Given the description of an element on the screen output the (x, y) to click on. 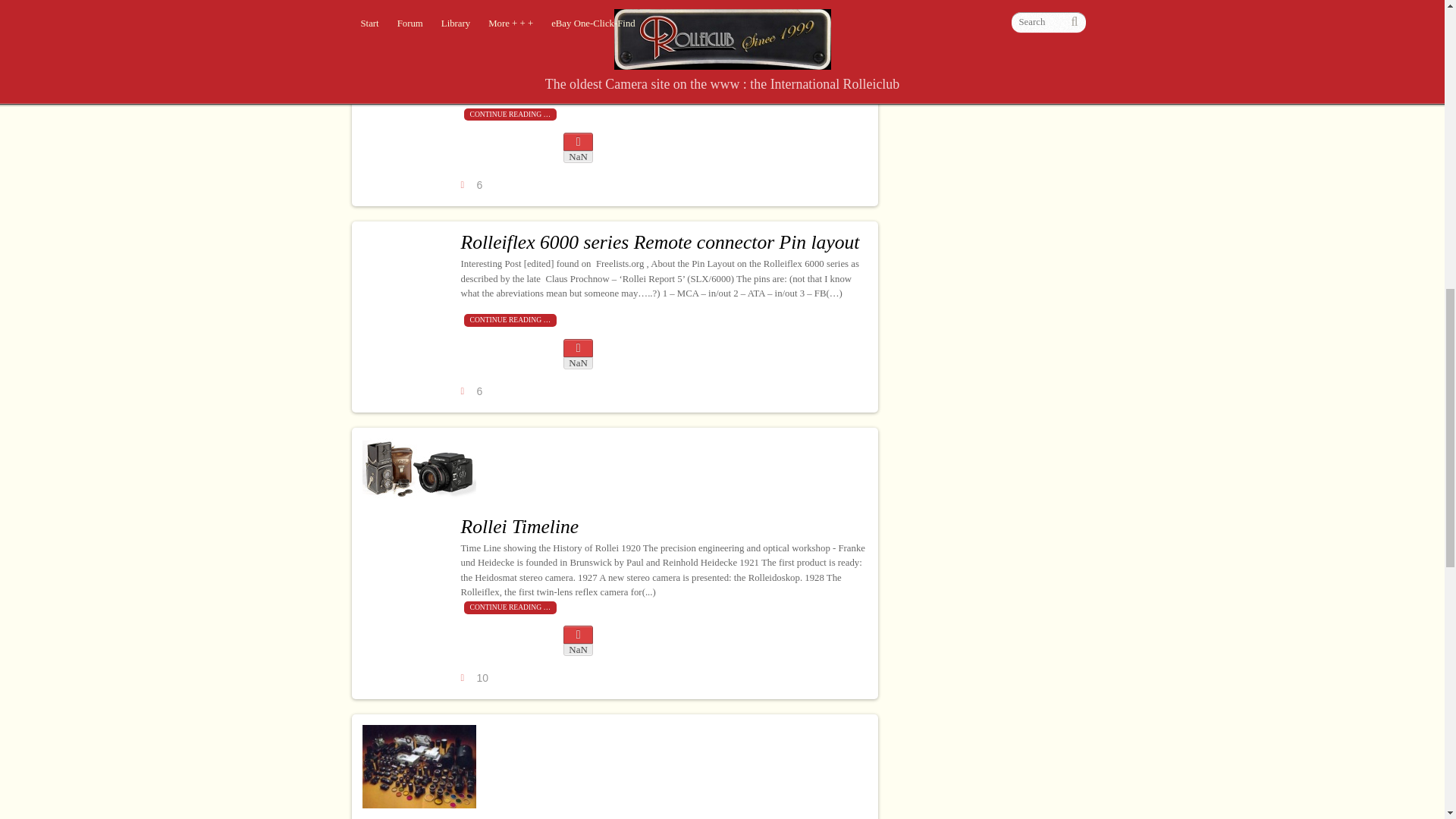
Like 10 (475, 678)
Like 6 (472, 185)
NaN (577, 354)
Like 6 (472, 391)
NaN (577, 640)
NaN (577, 147)
